Given the description of an element on the screen output the (x, y) to click on. 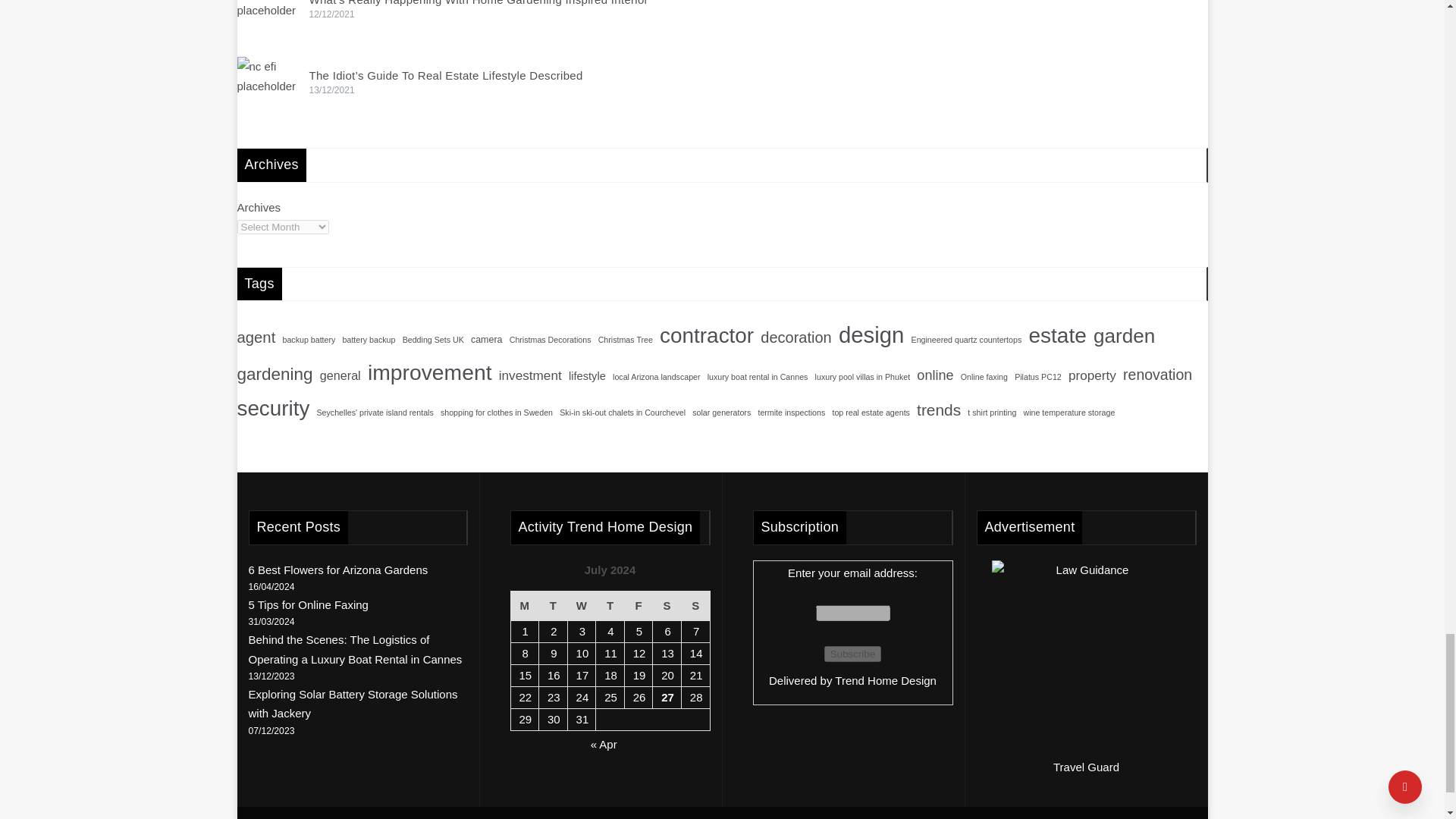
The Idiot's Guide To Real Estate Lifestyle Described (266, 86)
Subscribe (852, 653)
